Given the description of an element on the screen output the (x, y) to click on. 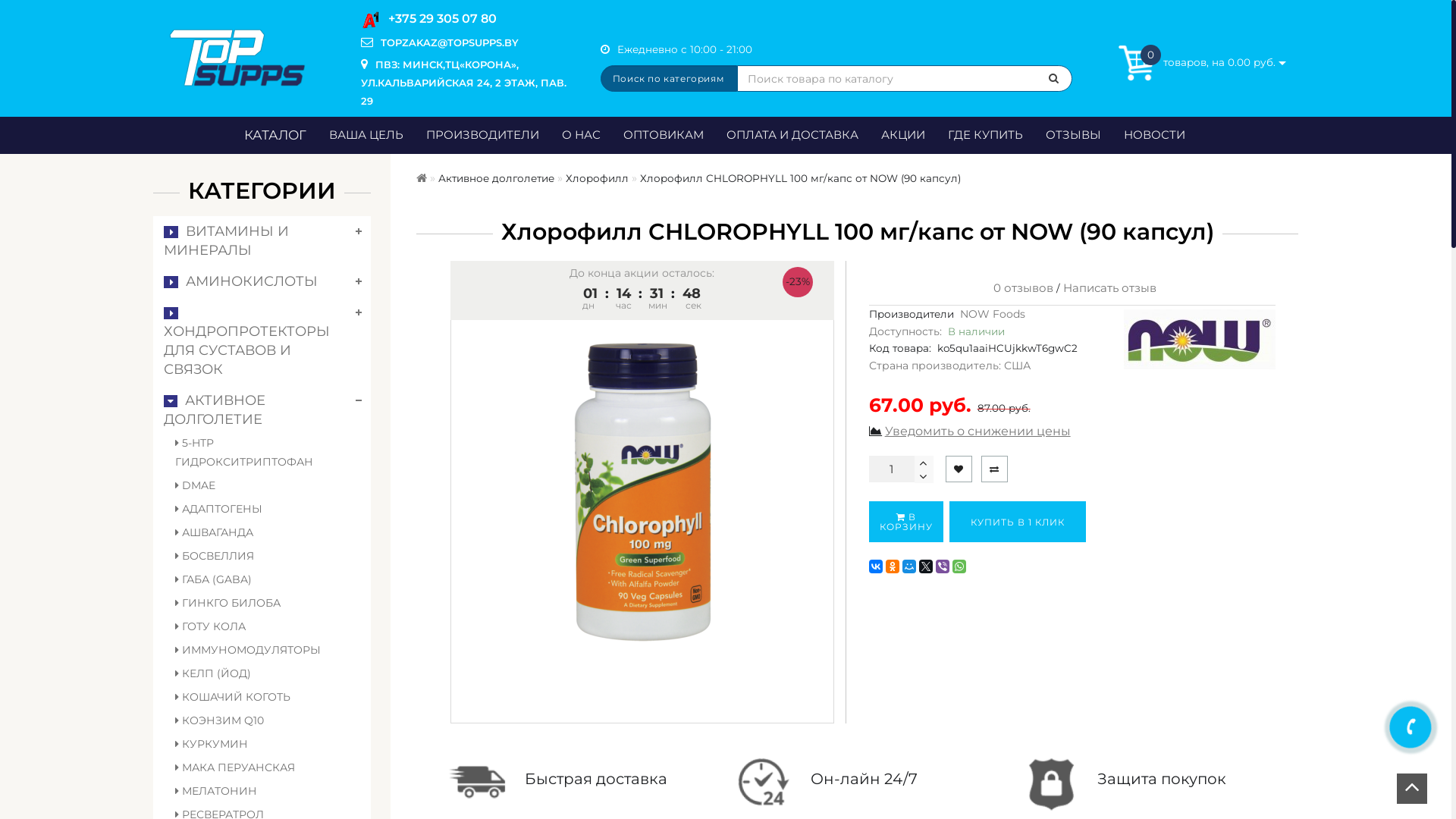
cart Element type: hover (1136, 62)
TOPZAKAZ@TOPSUPPS.BY Element type: text (445, 42)
NOW Foods Element type: hover (1199, 339)
DMAE Element type: text (253, 485)
  Element type: text (923, 476)
NOW Foods Element type: text (992, 313)
Twitter Element type: hover (925, 566)
WhatsApp Element type: hover (959, 566)
Viber Element type: hover (942, 566)
+375 29 305 07 80 Element type: text (438, 18)
  Element type: text (923, 462)
